Given the description of an element on the screen output the (x, y) to click on. 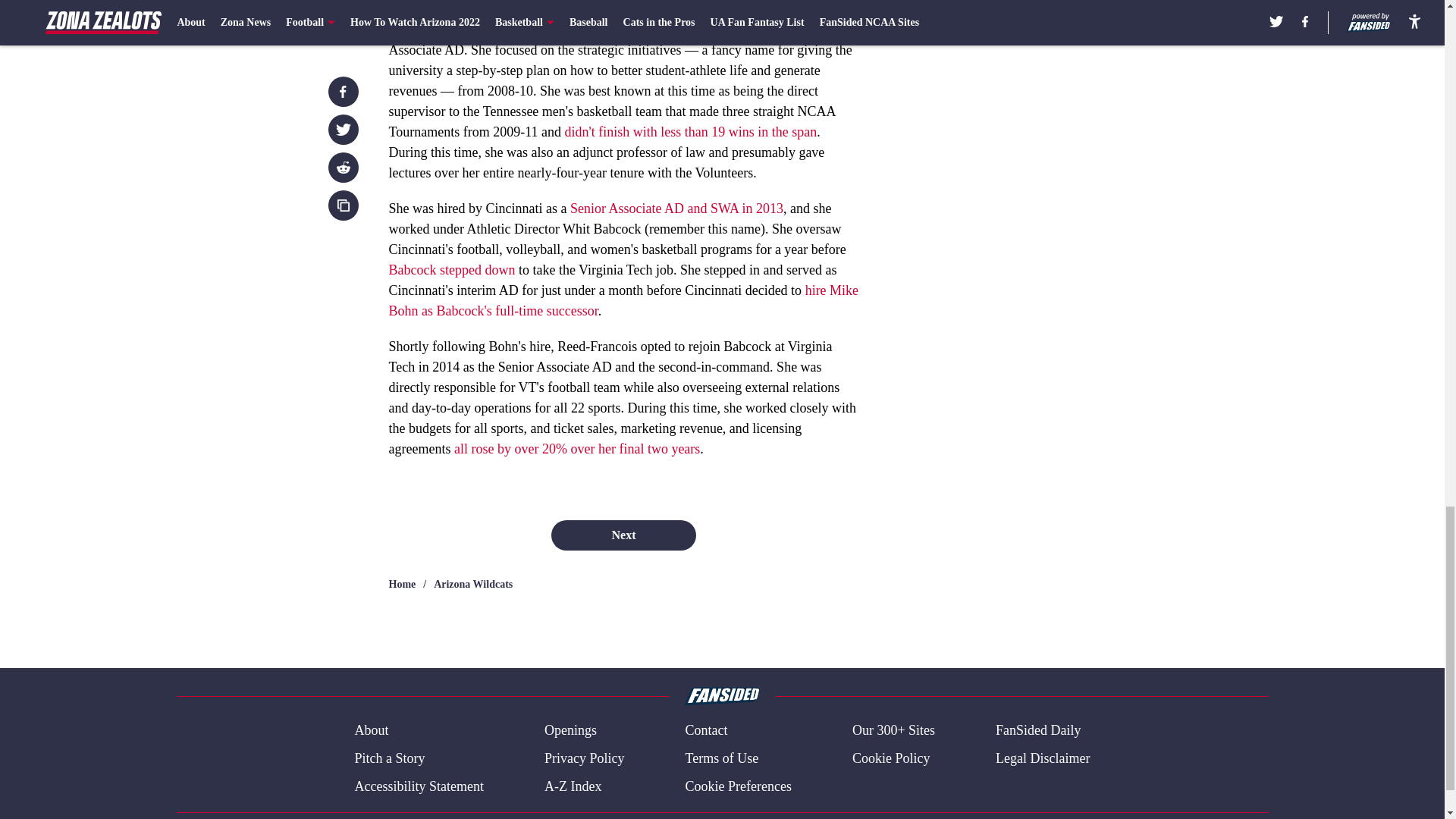
About (370, 730)
didn't finish with less than 19 wins in the span (690, 131)
FanSided Daily (1038, 730)
hire Mike Bohn as Babcock's full-time successor (623, 300)
Arizona Wildcats (472, 584)
Babcock stepped down (451, 269)
Contact (705, 730)
Home (401, 584)
Senior Associate AD and SWA in 2013 (676, 208)
Next (622, 535)
